Given the description of an element on the screen output the (x, y) to click on. 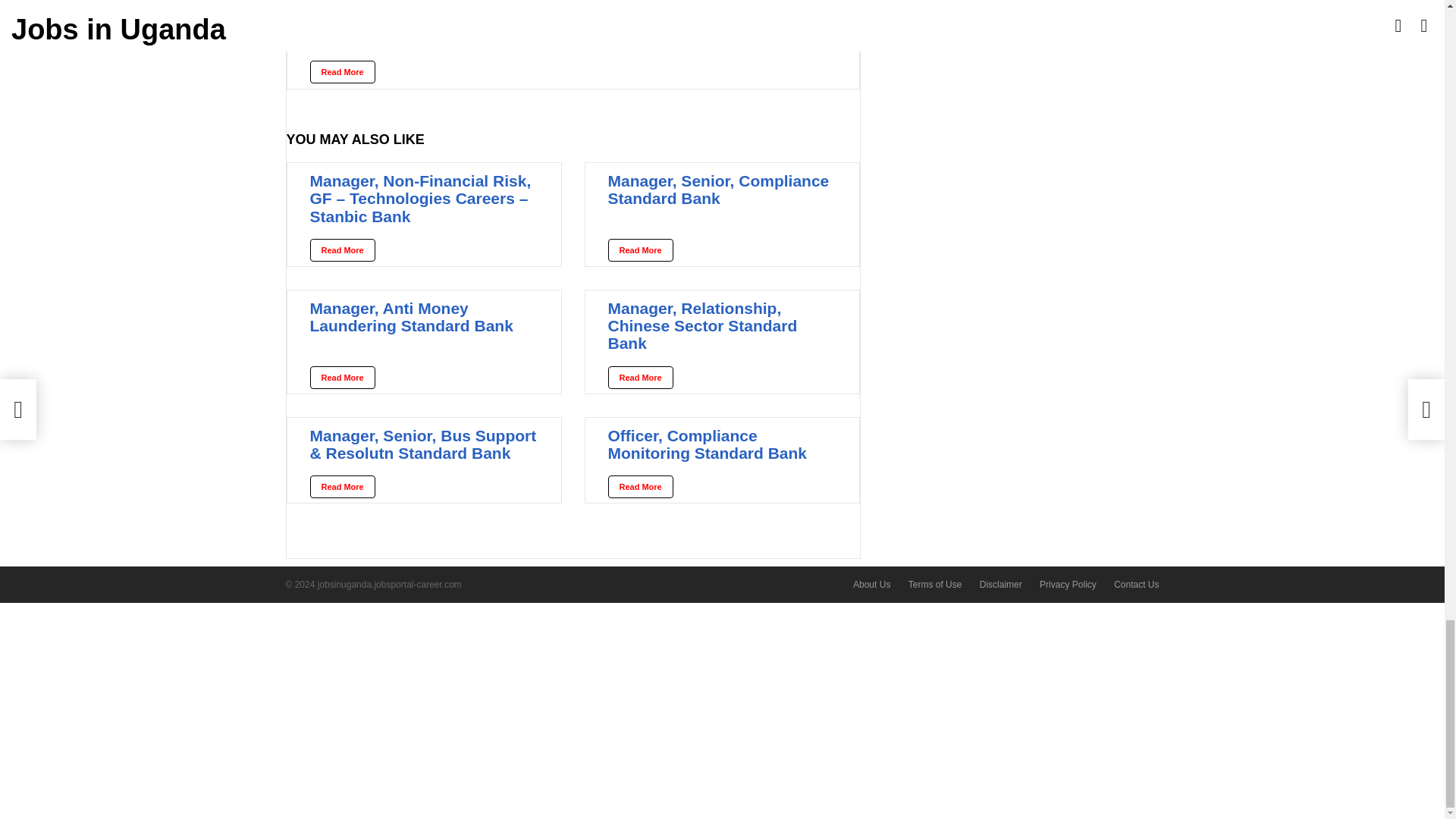
Read More (640, 250)
Read More (640, 376)
Read More (341, 486)
Manager, Anti Money Laundering Standard Bank (410, 316)
Read More (341, 71)
Officer, Compliance Monitoring Standard Bank (708, 443)
Manager, Relationship, Chinese Sector Standard Bank (702, 325)
Read More (341, 250)
Read More (341, 376)
